Given the description of an element on the screen output the (x, y) to click on. 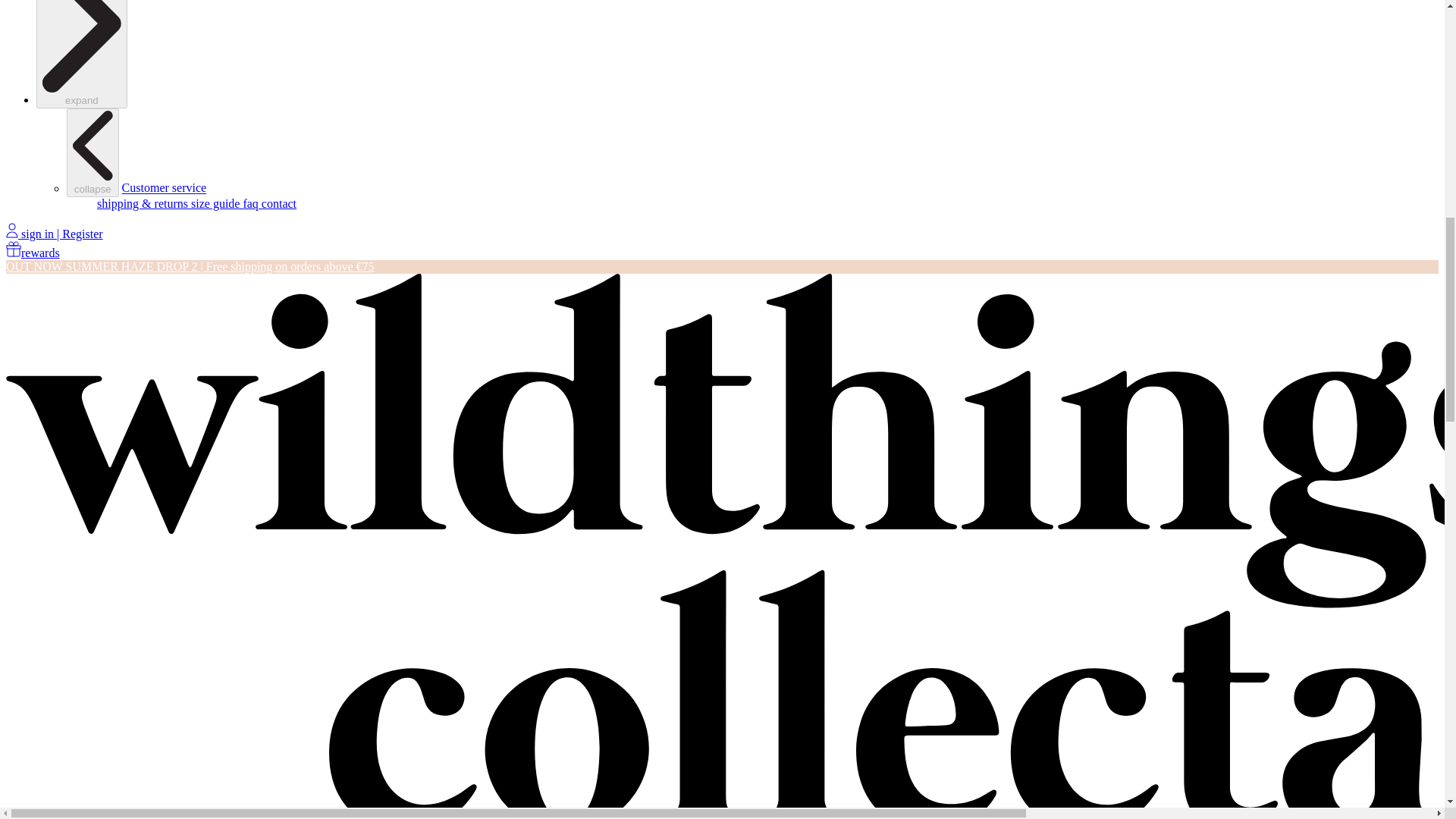
rewards (32, 252)
Customer service (164, 187)
contact (279, 203)
faq (251, 203)
size guide (216, 203)
